Given the description of an element on the screen output the (x, y) to click on. 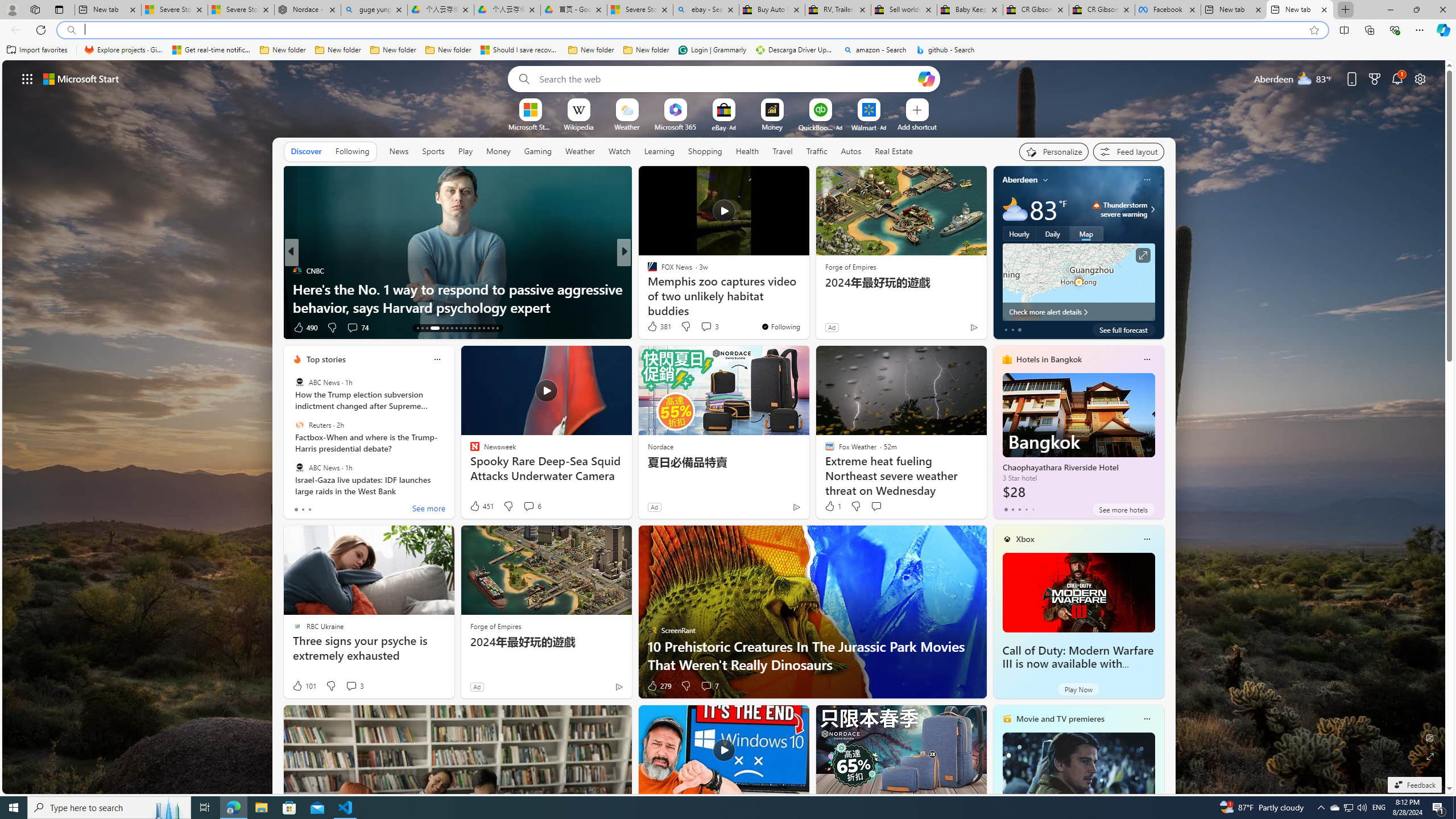
279 Like (658, 685)
Reuters (299, 424)
AutomationID: tab-20 (456, 328)
tab-3 (1025, 509)
AutomationID: tab-15 (426, 328)
Movie and TV premieres (1060, 718)
View comments 19 Comment (698, 327)
381 Like (658, 326)
1 Like (831, 505)
AutomationID: tab-17 (442, 328)
github - Search (945, 49)
You're following FOX News (780, 326)
New folder (646, 49)
